Given the description of an element on the screen output the (x, y) to click on. 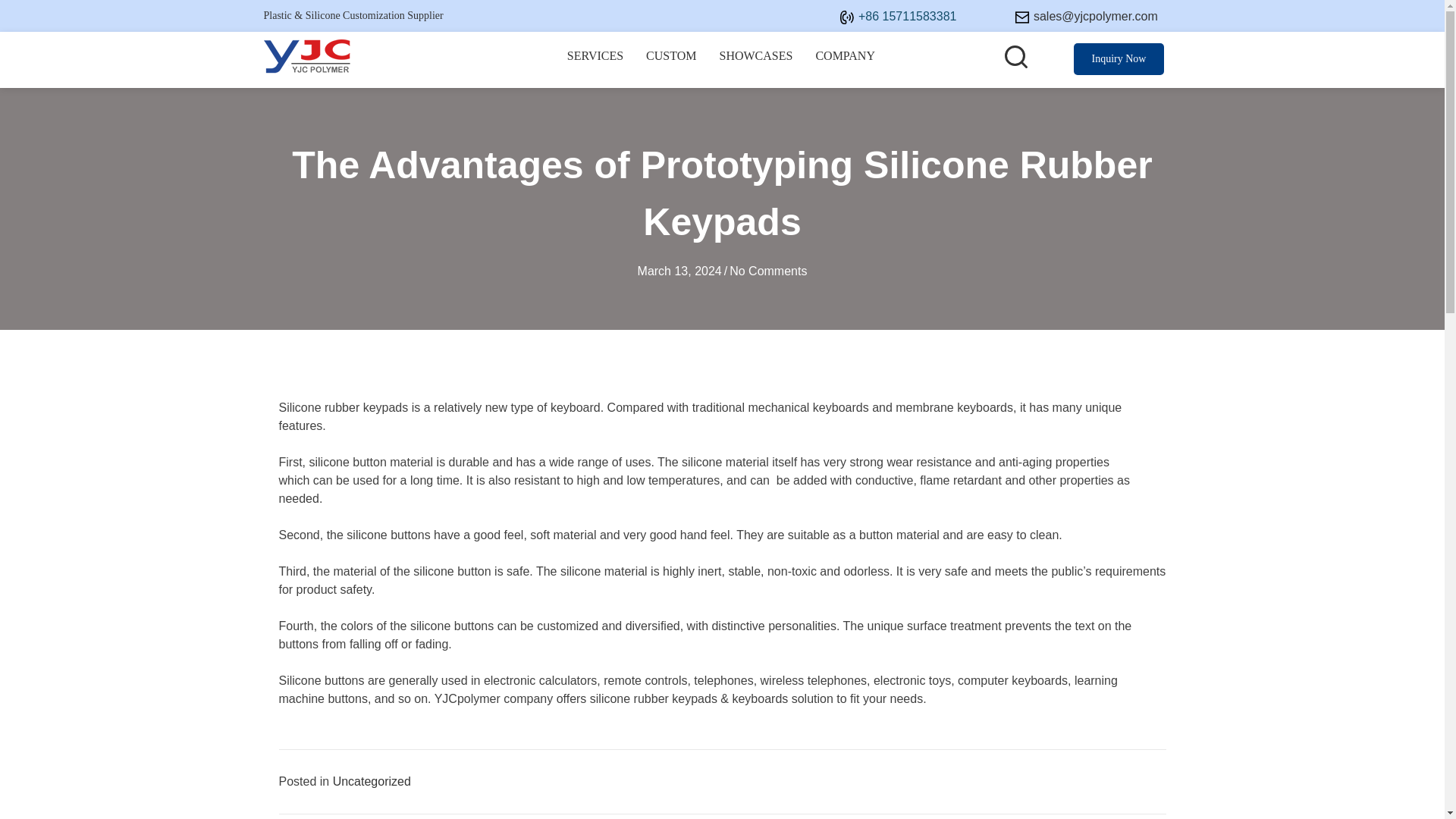
CUSTOM (670, 59)
SERVICES (595, 59)
COMPANY (844, 59)
SHOWCASES (756, 59)
